Given the description of an element on the screen output the (x, y) to click on. 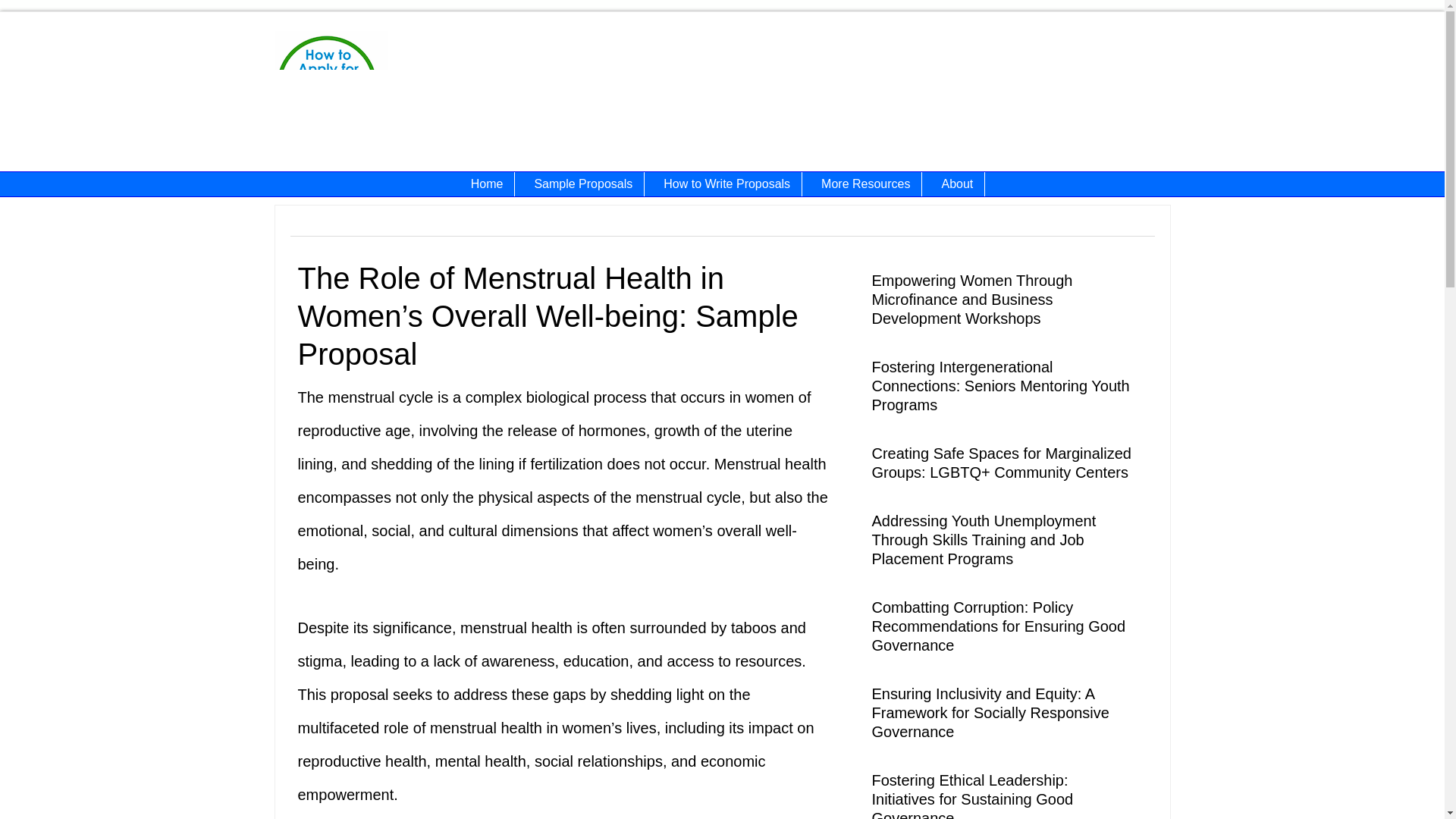
How to Apply for Grants (433, 97)
How to Write Proposals (727, 183)
Sample Proposals (583, 183)
More Resources (865, 183)
About (957, 183)
Home (487, 183)
